Given the description of an element on the screen output the (x, y) to click on. 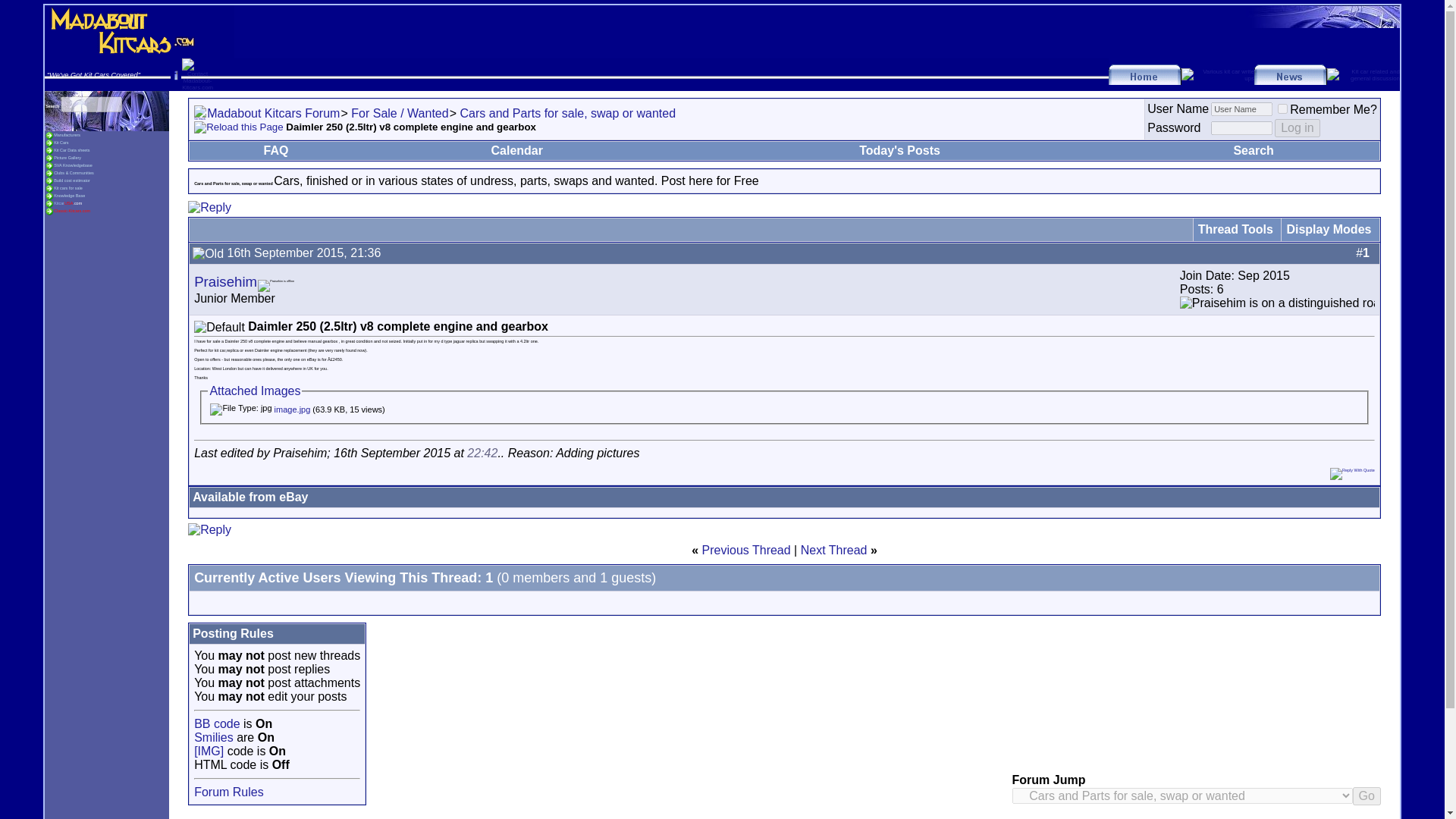
Contact Madabout-Kitcars.com (197, 74)
Massive gallery of kitcar pictures (67, 157)
SVA Knowledgebase (73, 164)
Display Modes (1328, 228)
Madabout Kitcars Forum (272, 113)
1 (1282, 108)
Build cost estimator (71, 180)
Manufacturers (66, 134)
Search for you favourite kit car (60, 142)
